Given the description of an element on the screen output the (x, y) to click on. 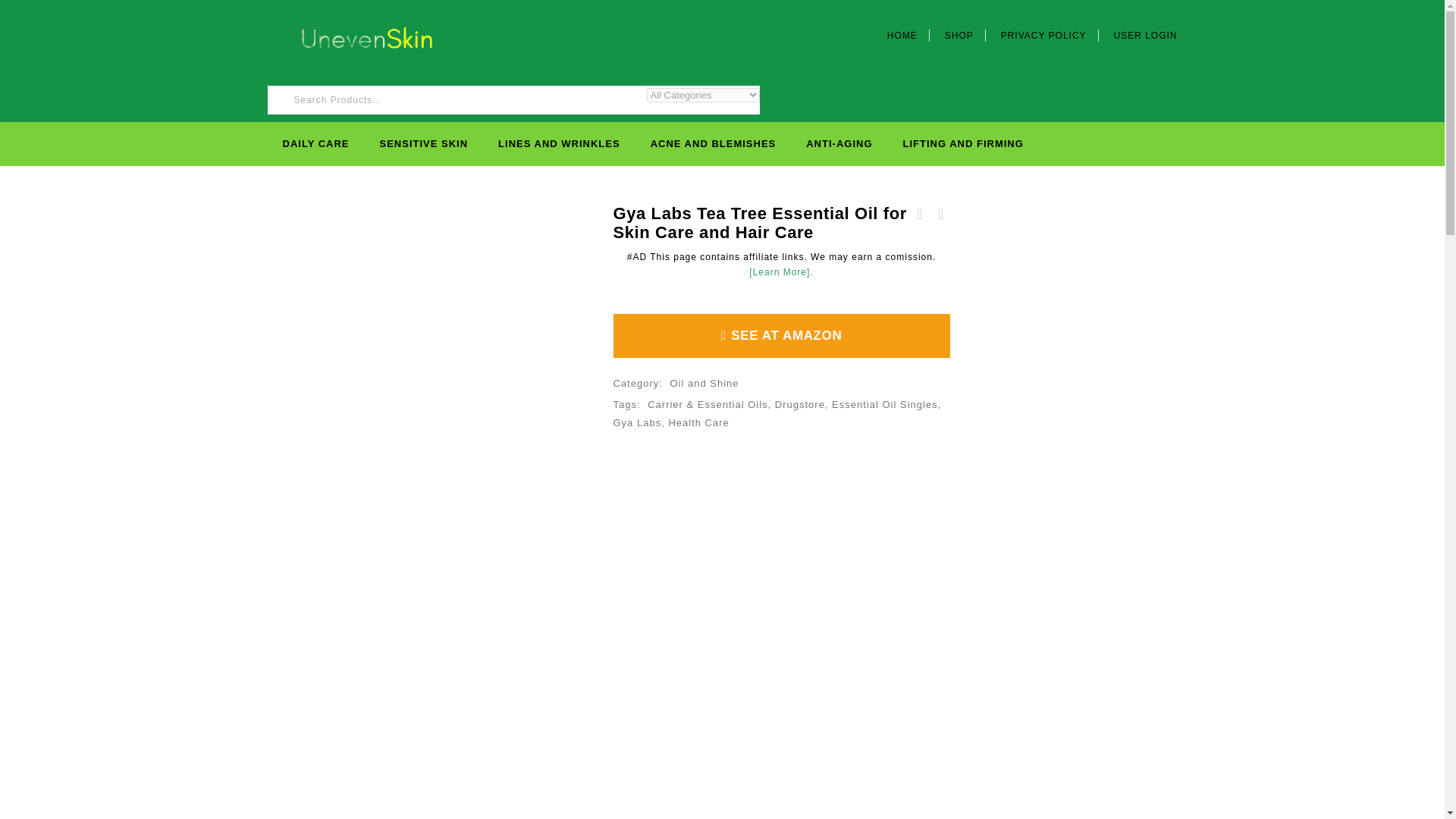
Search (745, 118)
SHOP (959, 35)
HOME (903, 35)
LIFTING AND FIRMING (963, 144)
Oil and Shine (703, 383)
ANTI-AGING (838, 144)
Majestic Pure Avocado Oil for Hair and Skin (939, 214)
PRIVACY POLICY (1044, 35)
ACNE AND BLEMISHES (713, 144)
SENSITIVE SKIN (424, 144)
